Given the description of an element on the screen output the (x, y) to click on. 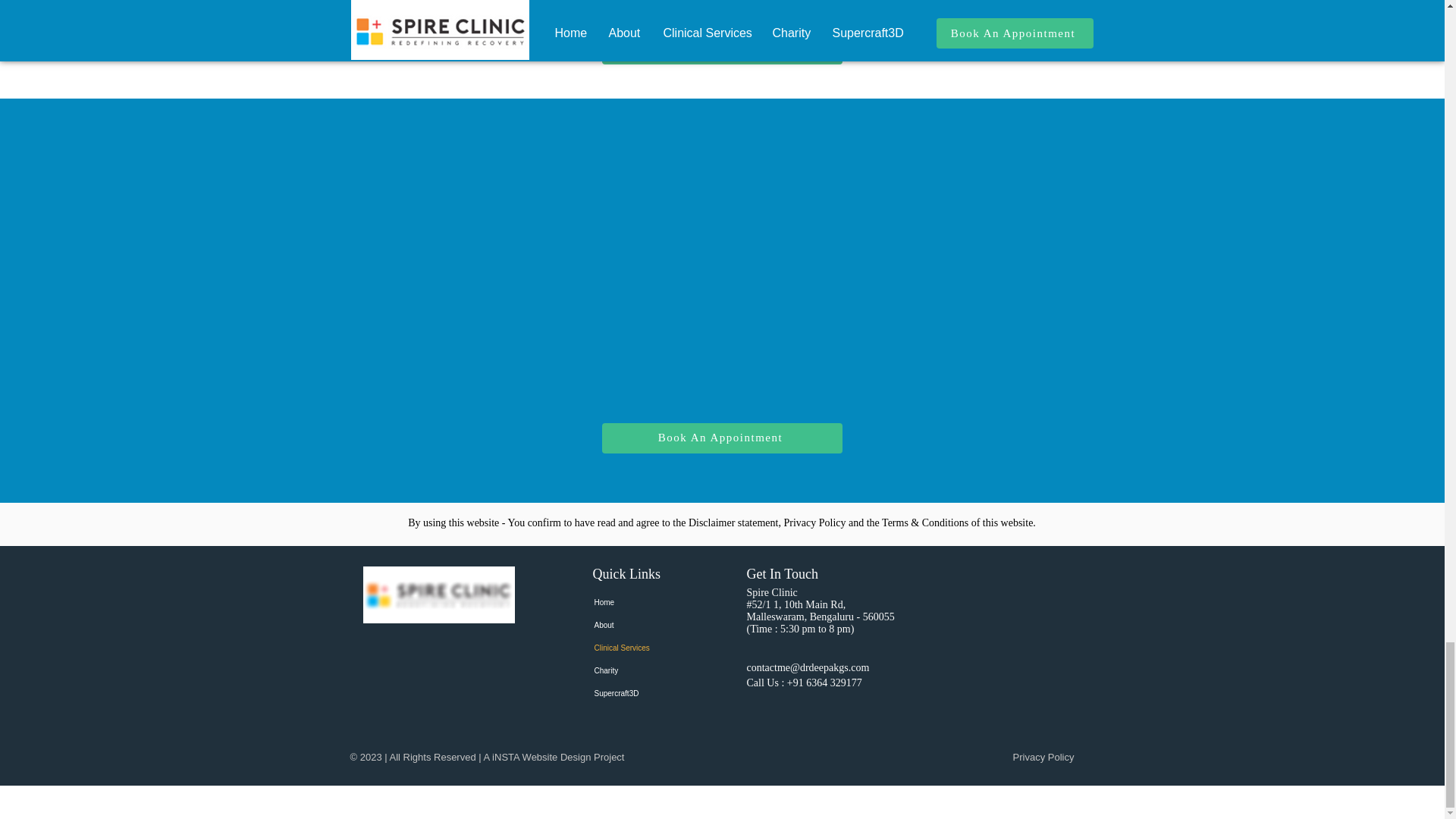
Book An Appointment (722, 438)
Charity (647, 671)
Home (647, 602)
Book An Appointment (722, 49)
About (647, 625)
Supercraft3D (647, 693)
